Given the description of an element on the screen output the (x, y) to click on. 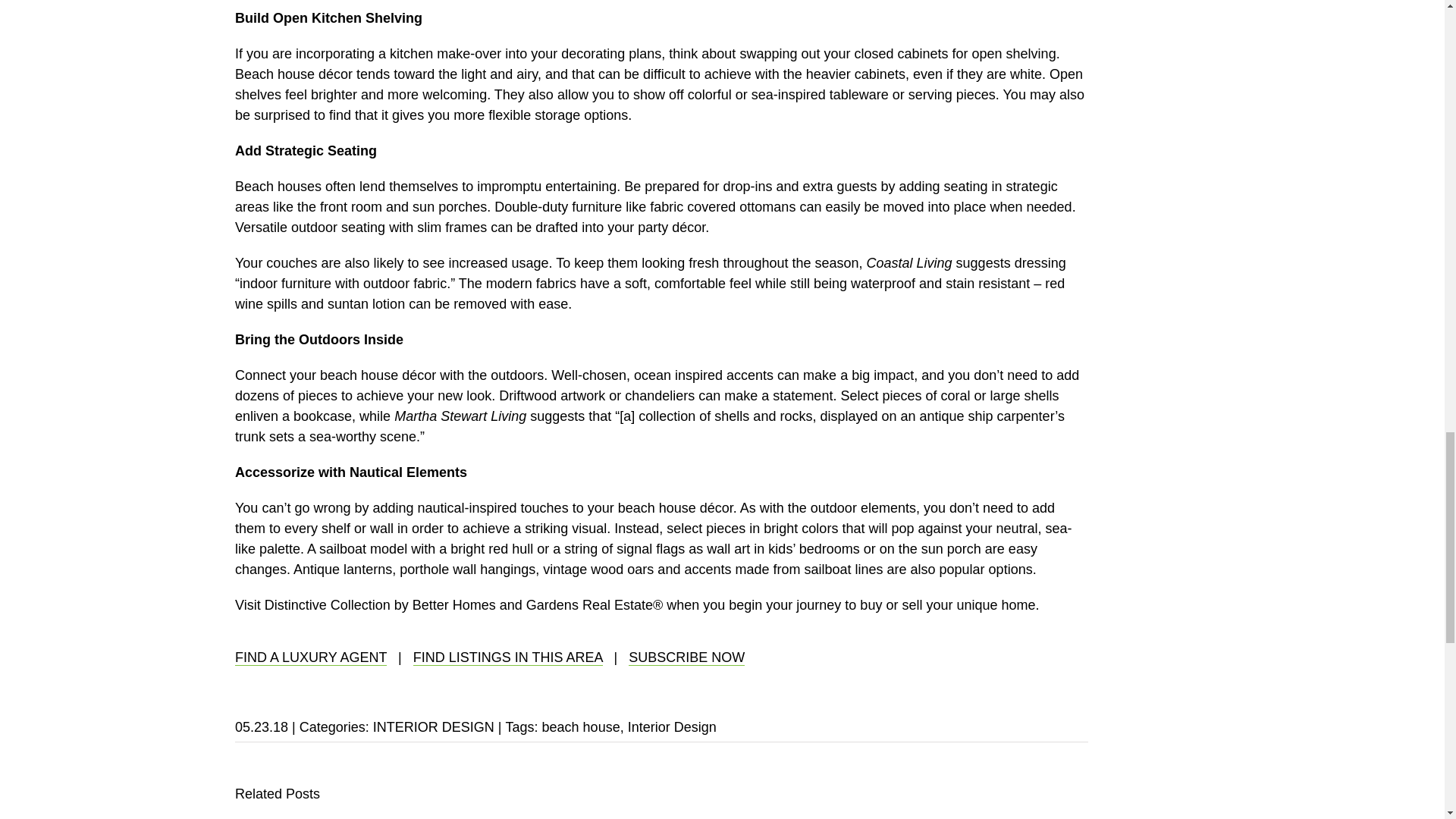
FIND LISTINGS IN THIS AREA (507, 657)
beach house (580, 726)
FIND A LUXURY AGENT (310, 657)
Martha Stewart Living (459, 416)
Coastal Living (909, 263)
Interior Design (671, 726)
SUBSCRIBE NOW (686, 657)
INTERIOR DESIGN (433, 726)
